Given the description of an element on the screen output the (x, y) to click on. 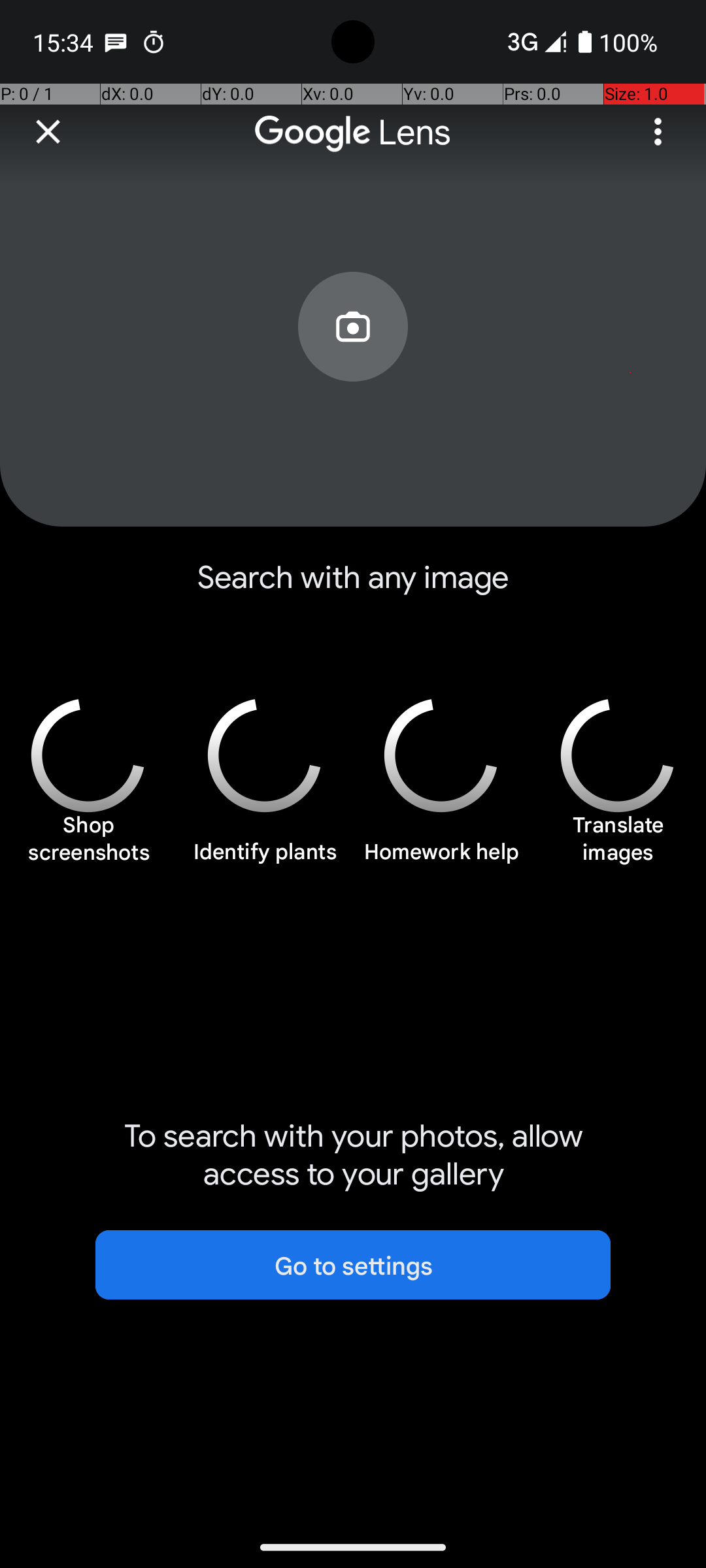
Search with your camera Element type: android.widget.FrameLayout (353, 356)
Search with any image Element type: android.widget.TextView (353, 587)
Shop screenshots Element type: android.widget.TextView (88, 845)
Identify plants Element type: android.widget.TextView (264, 858)
Homework help Element type: android.widget.TextView (441, 858)
Translate images Element type: android.widget.TextView (617, 845)
To search with your photos, allow access to your gallery Element type: android.widget.TextView (352, 1154)
Go to settings Element type: android.widget.Button (352, 1264)
